Given the description of an element on the screen output the (x, y) to click on. 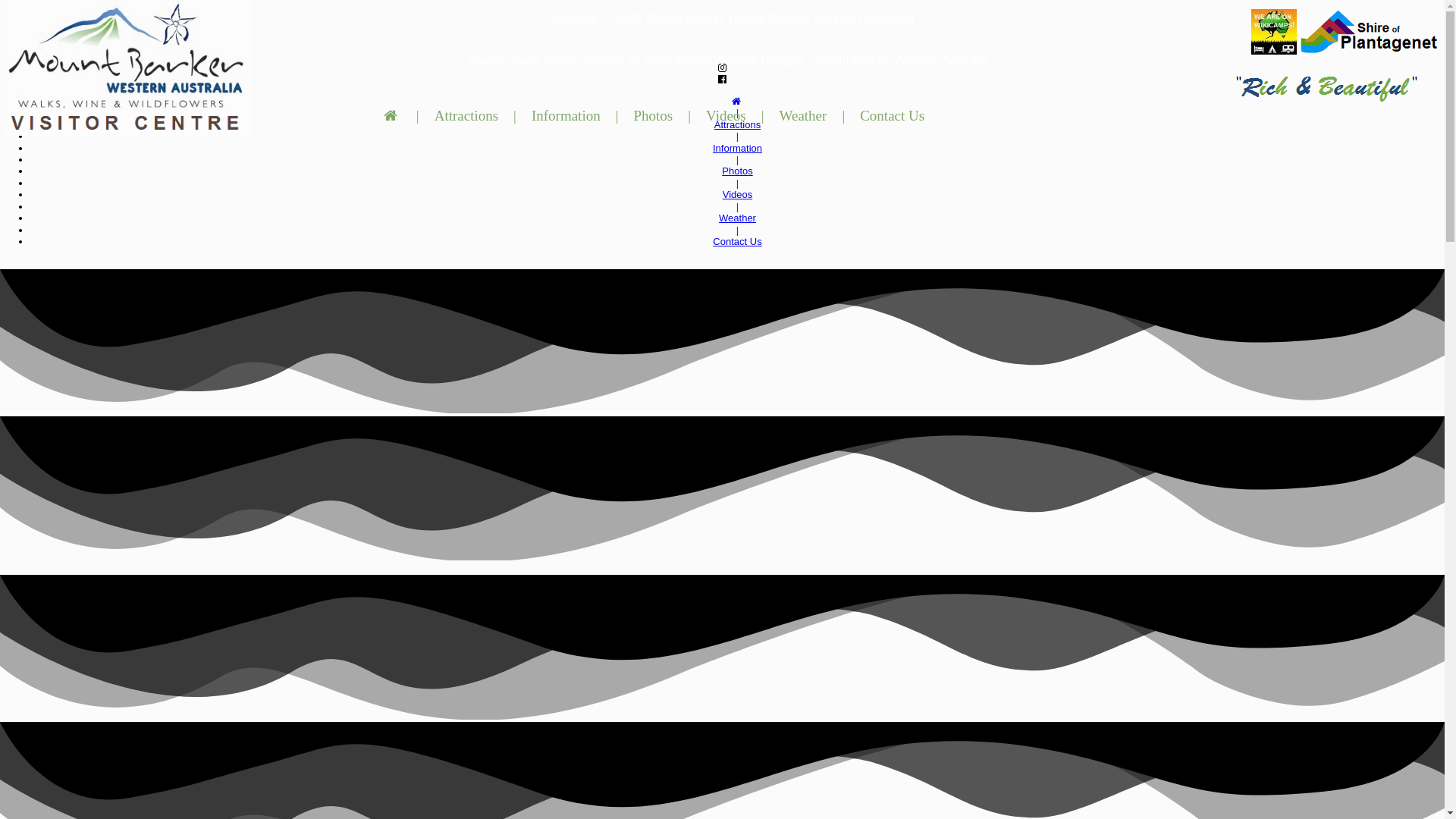
Photos Element type: text (736, 170)
| Element type: text (689, 115)
| Element type: text (737, 112)
Videos Element type: text (725, 115)
Weather Element type: text (737, 217)
Videos Element type: text (737, 194)
Attractions Element type: text (466, 115)
  Element type: text (737, 100)
| Element type: text (417, 115)
Information Element type: text (565, 115)
Local Government Authority Website Element type: hover (1369, 31)
| Element type: text (842, 115)
| Element type: text (737, 159)
Weather Element type: text (803, 115)
Contact Us Element type: text (736, 241)
| Element type: text (762, 115)
Attractions Element type: text (737, 124)
| Element type: text (514, 115)
| Element type: text (737, 206)
Photos Element type: text (652, 115)
| Element type: text (737, 135)
| Element type: text (737, 182)
  Element type: text (391, 115)
Return to Home Page Element type: hover (128, 67)
| Element type: text (616, 115)
Contact Us Element type: text (892, 115)
| Element type: text (737, 229)
Information Element type: text (737, 147)
